Given the description of an element on the screen output the (x, y) to click on. 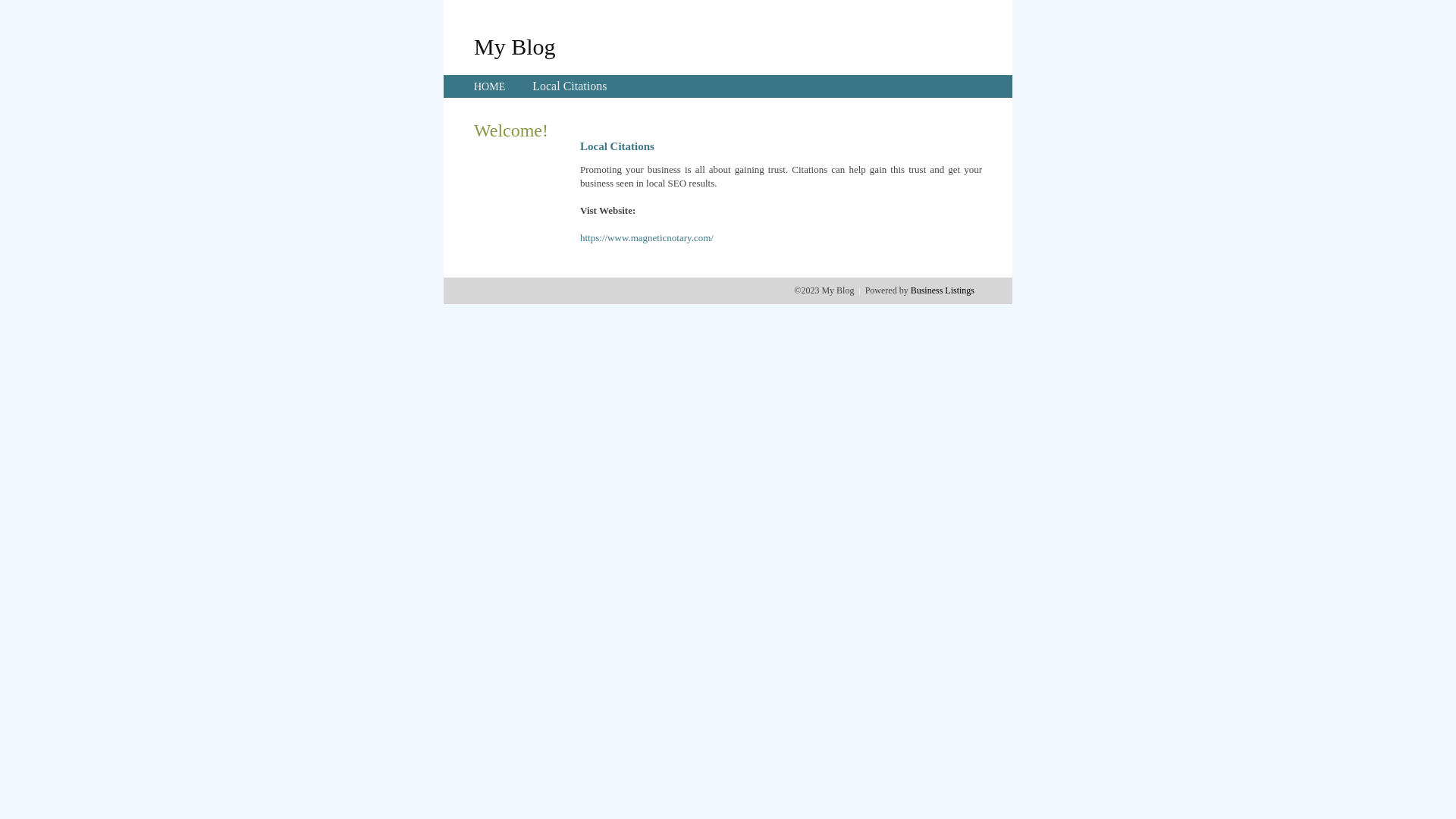
https://www.magneticnotary.com/ Element type: text (646, 237)
Business Listings Element type: text (942, 290)
HOME Element type: text (489, 86)
My Blog Element type: text (514, 46)
Local Citations Element type: text (569, 85)
